Given the description of an element on the screen output the (x, y) to click on. 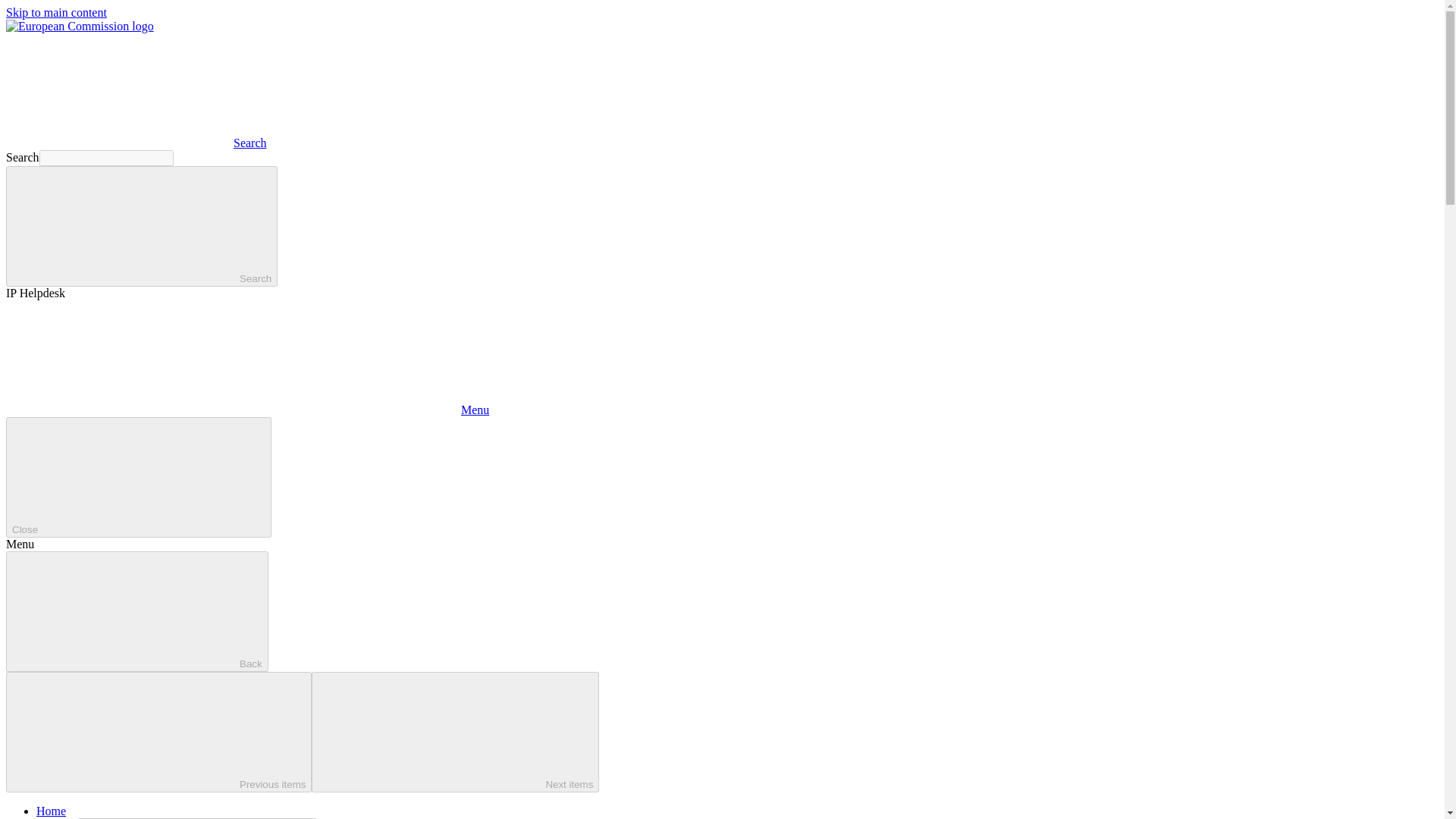
Close (137, 476)
Previous items (158, 731)
Menu (247, 409)
Back (136, 611)
European Commission (79, 25)
Search (141, 226)
Next items (454, 731)
Search (135, 142)
Home (50, 810)
Skip to main content (55, 11)
